Given the description of an element on the screen output the (x, y) to click on. 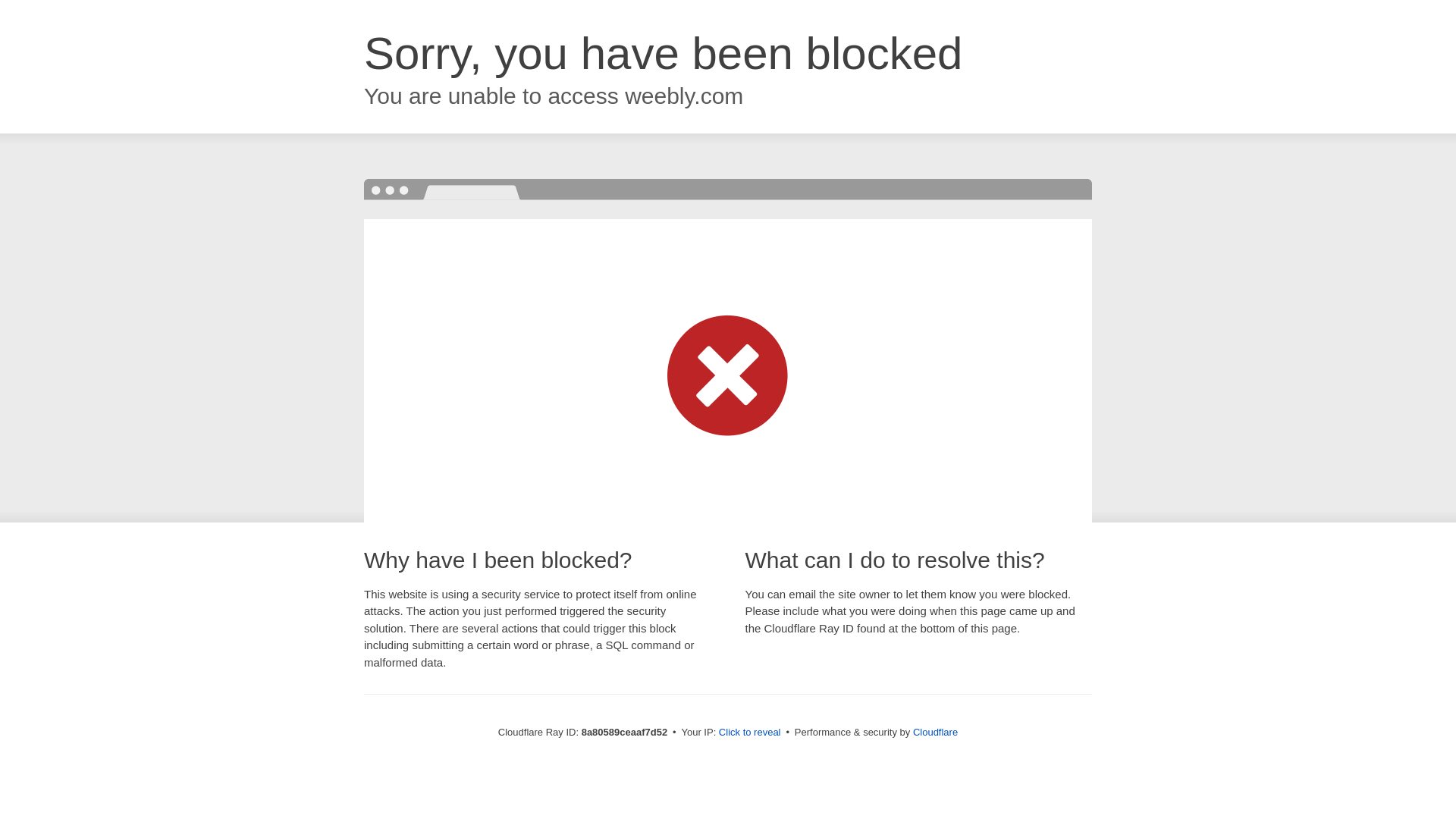
Cloudflare (935, 731)
Click to reveal (749, 732)
